Given the description of an element on the screen output the (x, y) to click on. 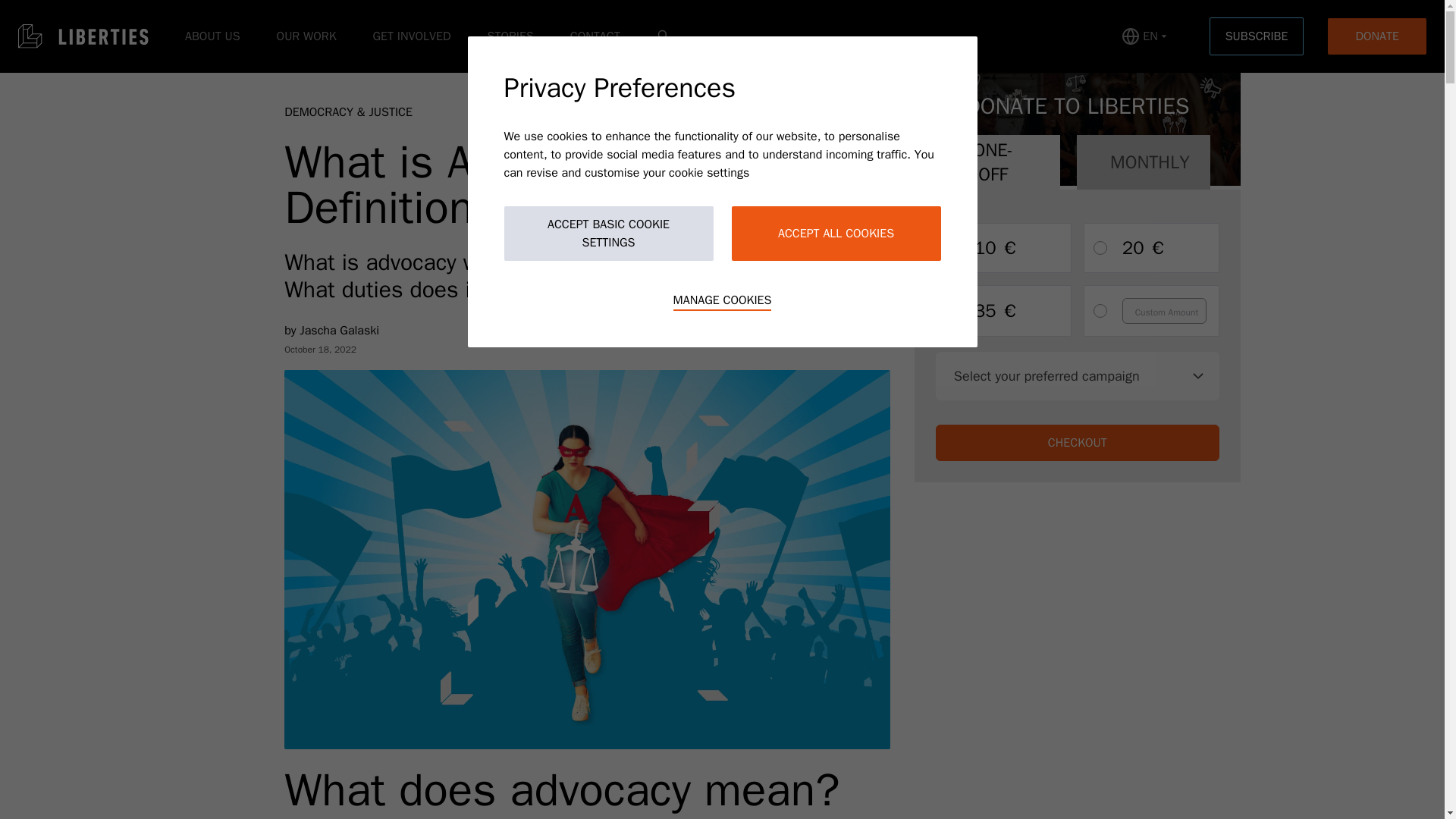
EN (1144, 36)
SUBSCRIBE (1256, 36)
Language switcher (1144, 36)
OUR WORK (306, 36)
on (1099, 310)
on (1099, 247)
on (951, 247)
DONATE (1376, 36)
CONTACT (595, 36)
GET INVOLVED (411, 36)
